Given the description of an element on the screen output the (x, y) to click on. 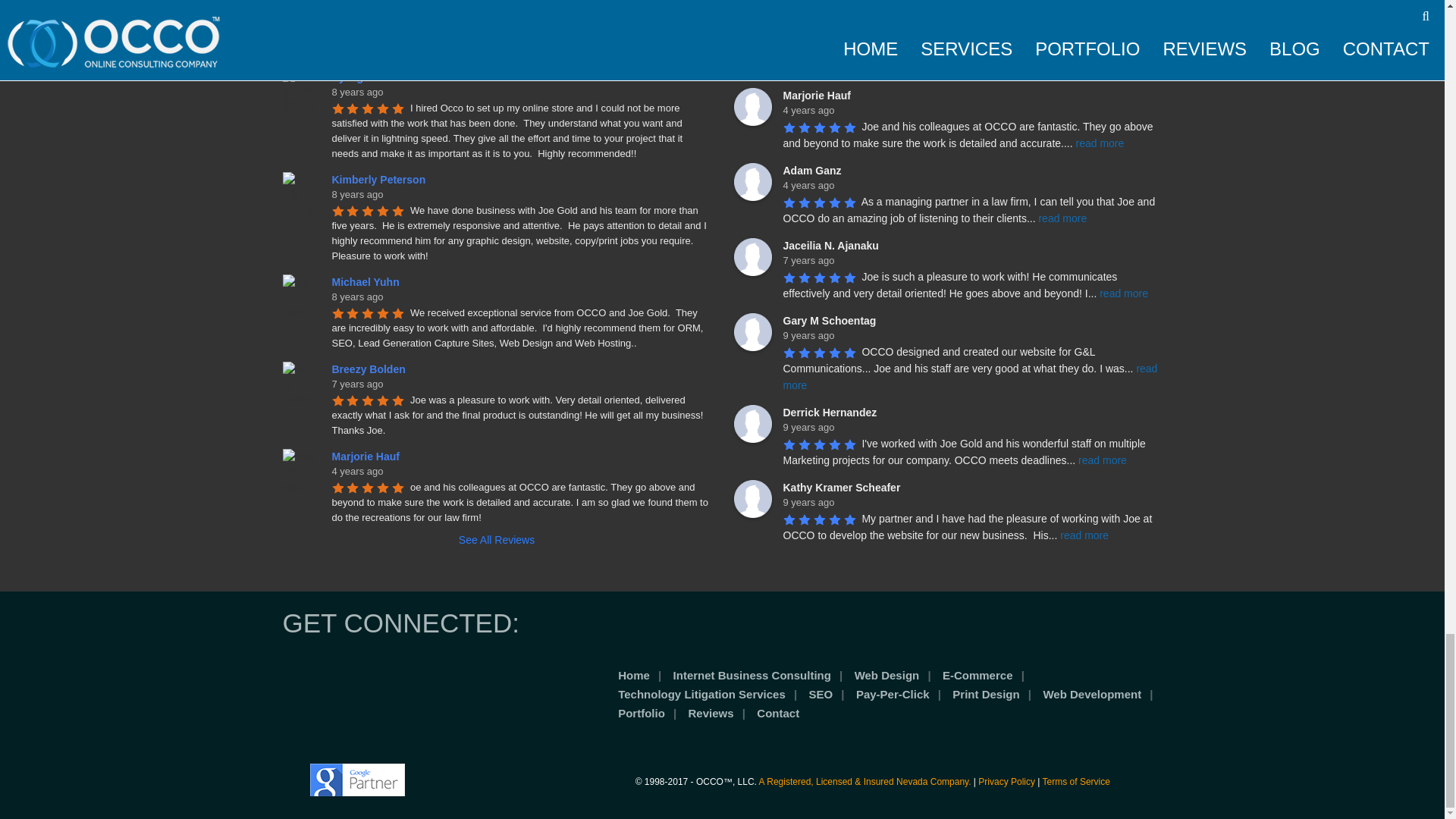
Gary M Schoentag (752, 331)
Adam Ganz (752, 181)
Kathy Kramer Scheafer (752, 498)
YouTube (395, 681)
Facebook (312, 681)
Derrick Hernandez (752, 423)
Jaceilia N. Ajanaku (752, 257)
Marjorie Hauf (752, 106)
